Given the description of an element on the screen output the (x, y) to click on. 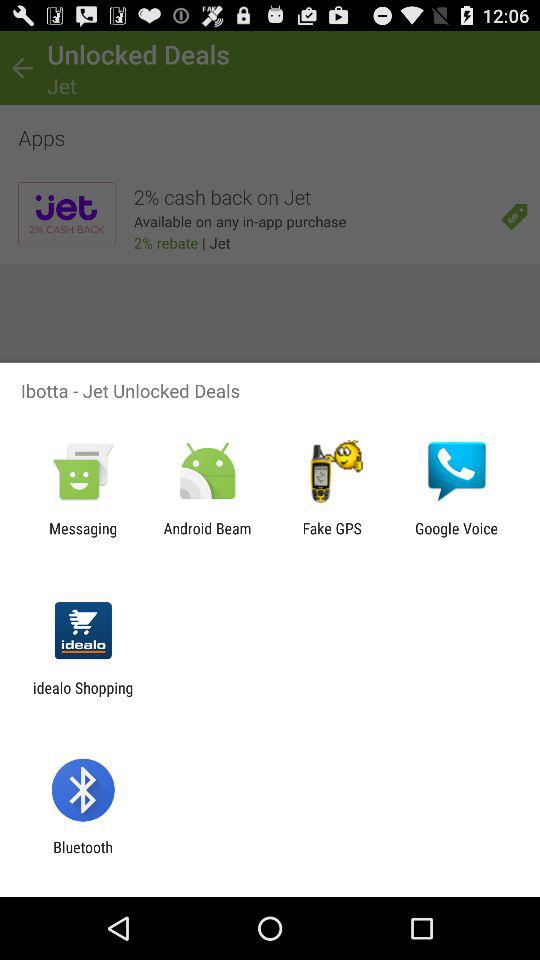
select the app to the right of the fake gps icon (456, 537)
